Given the description of an element on the screen output the (x, y) to click on. 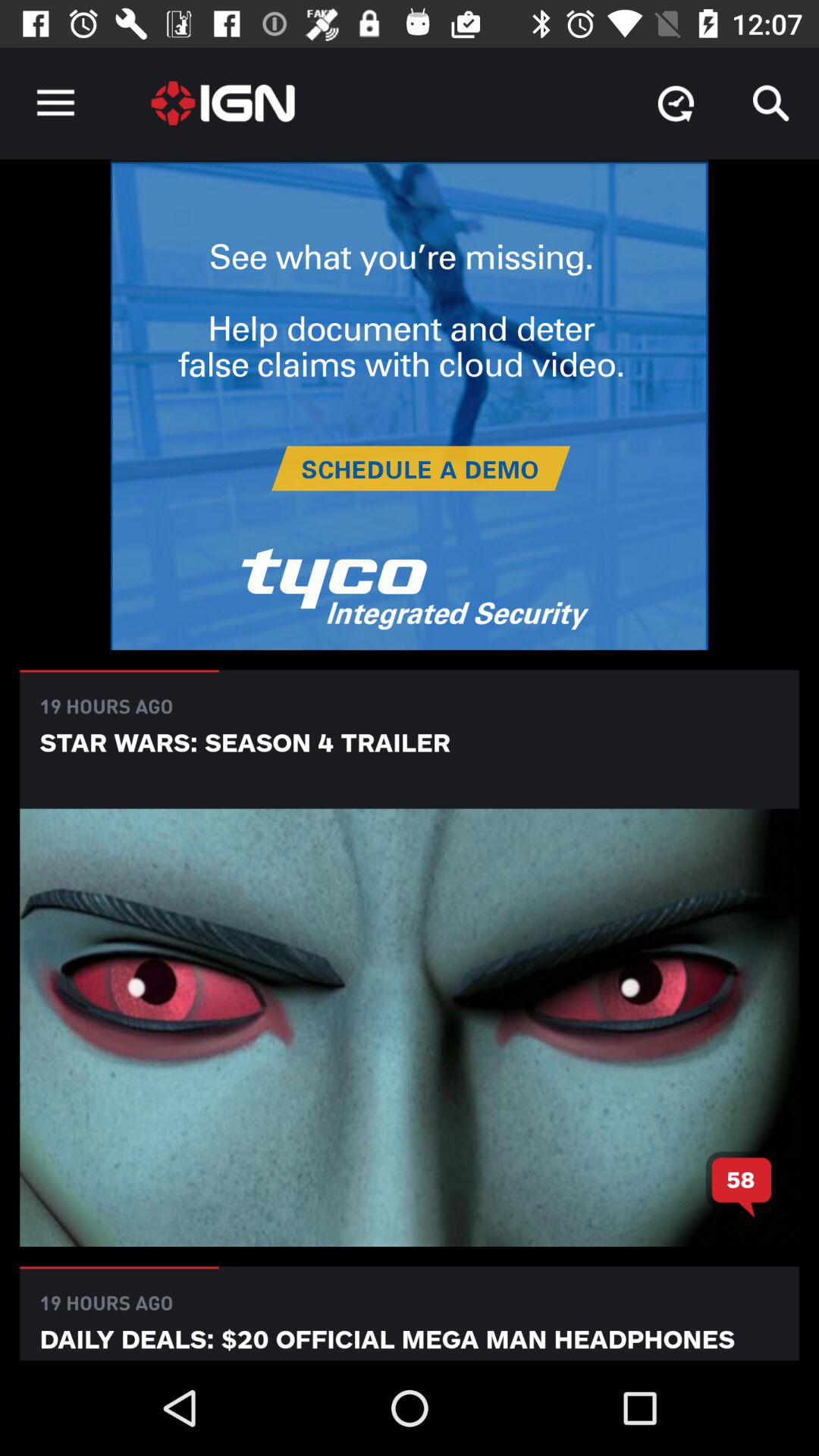
go to advertisement (409, 406)
